Given the description of an element on the screen output the (x, y) to click on. 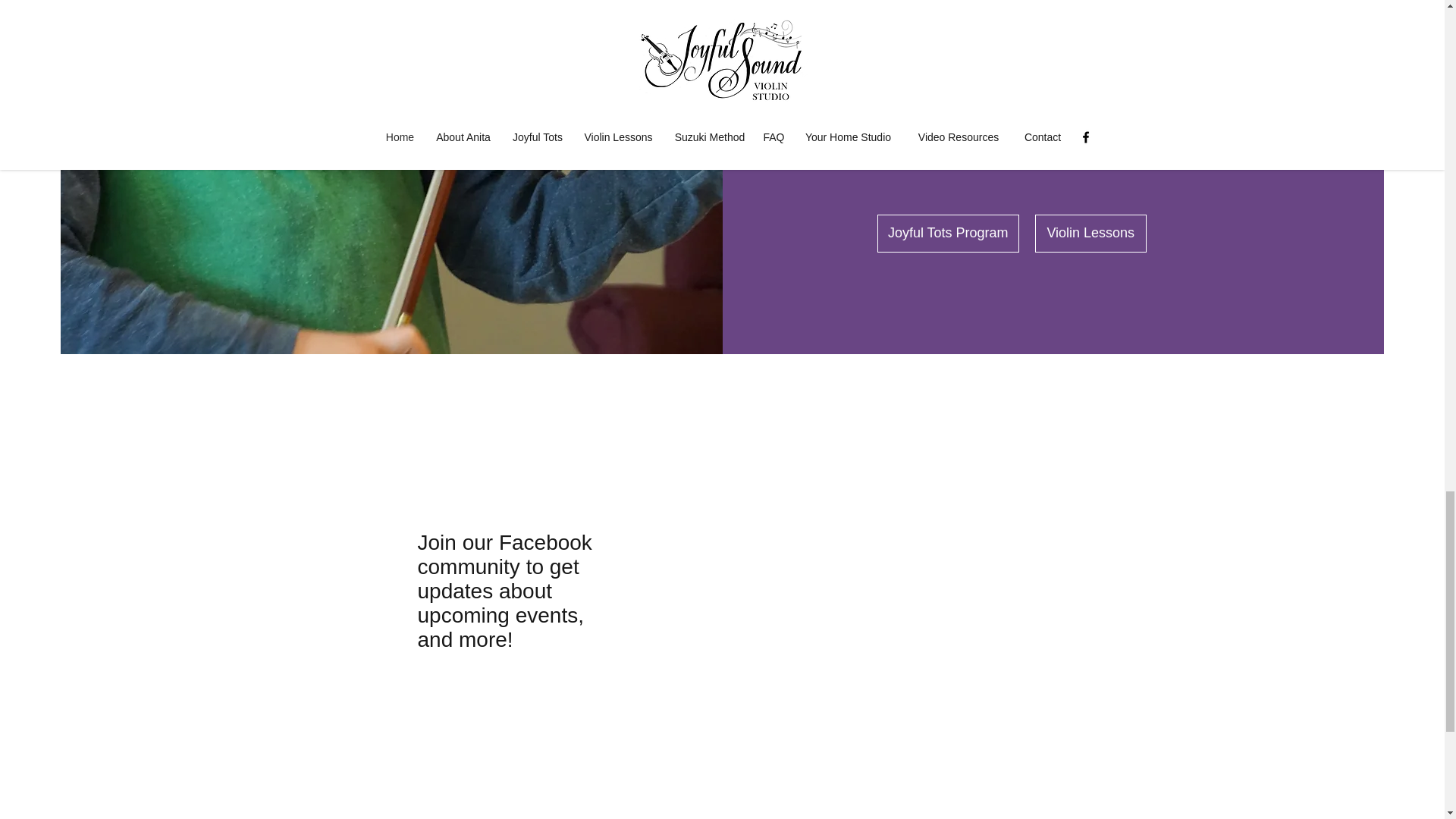
Joyful Tots Program (948, 232)
Violin Lessons (1091, 232)
